Given the description of an element on the screen output the (x, y) to click on. 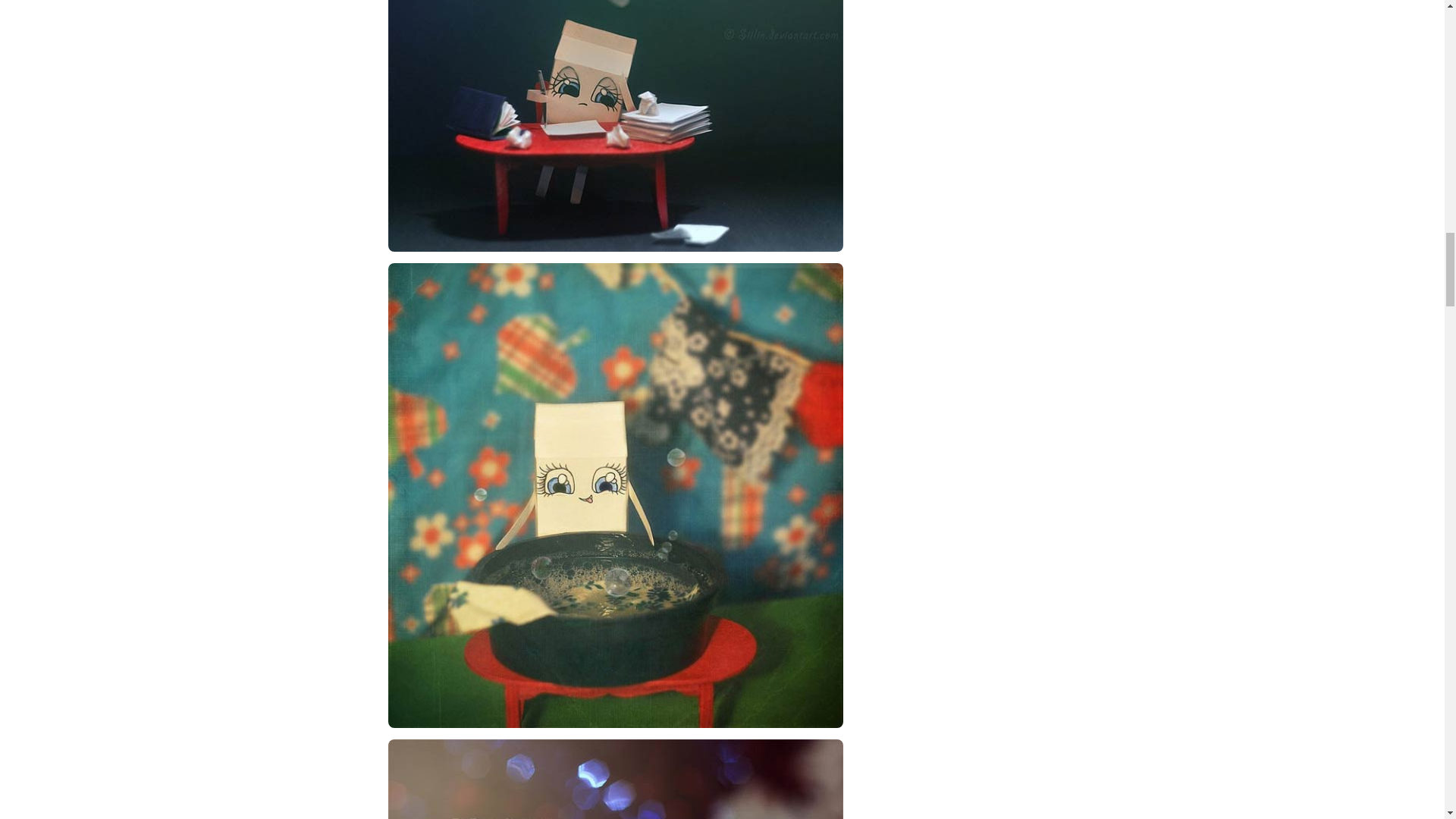
Stunning Photos of Milk Boxes (615, 125)
Stunning Photos of Milk Boxes (615, 779)
